Given the description of an element on the screen output the (x, y) to click on. 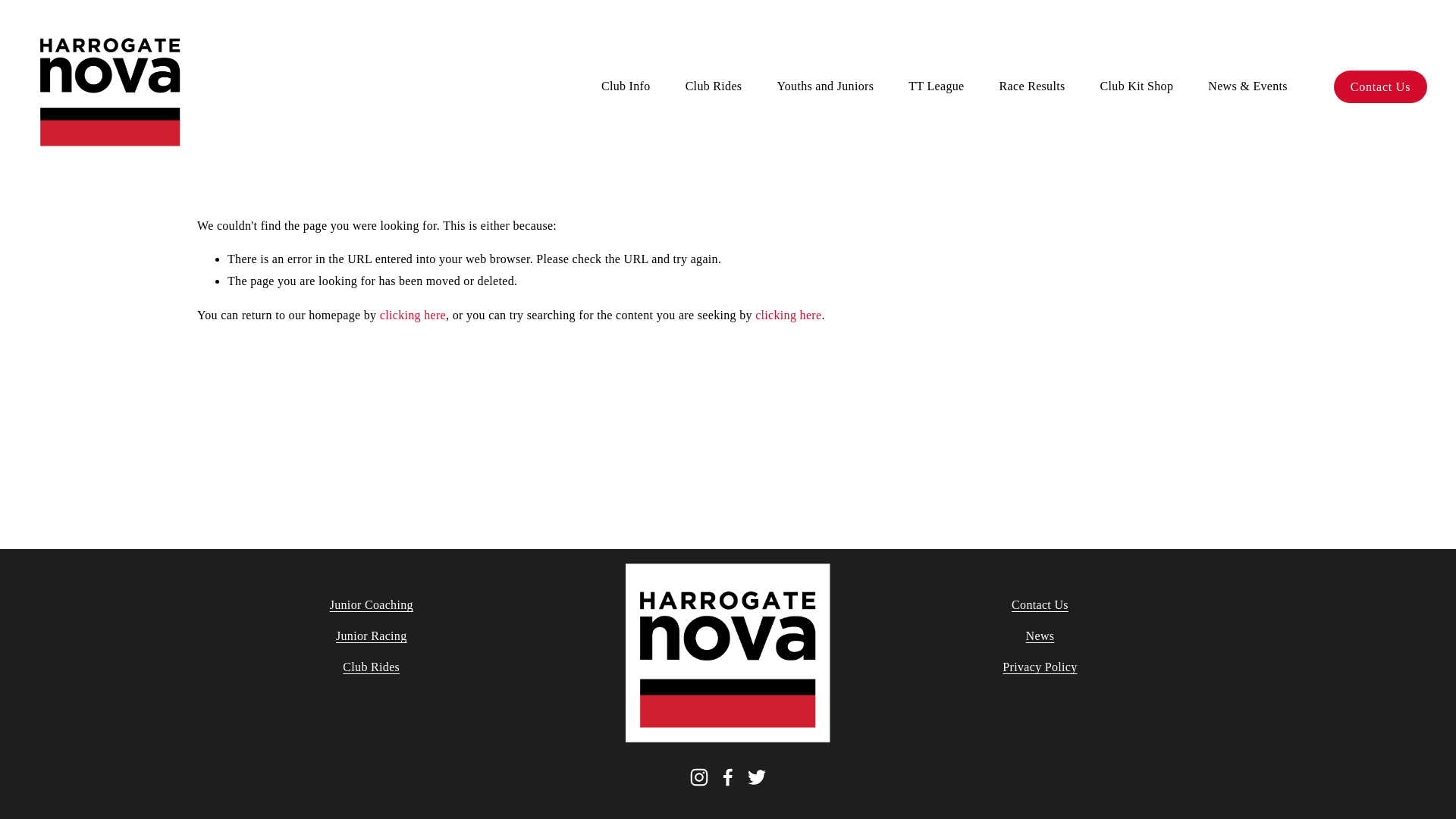
TT League (935, 87)
Club Rides (713, 87)
Youths and Juniors (824, 87)
Contact Us (1379, 87)
Race Results (1031, 87)
Club Kit Shop (1136, 87)
Club Info (625, 87)
